Given the description of an element on the screen output the (x, y) to click on. 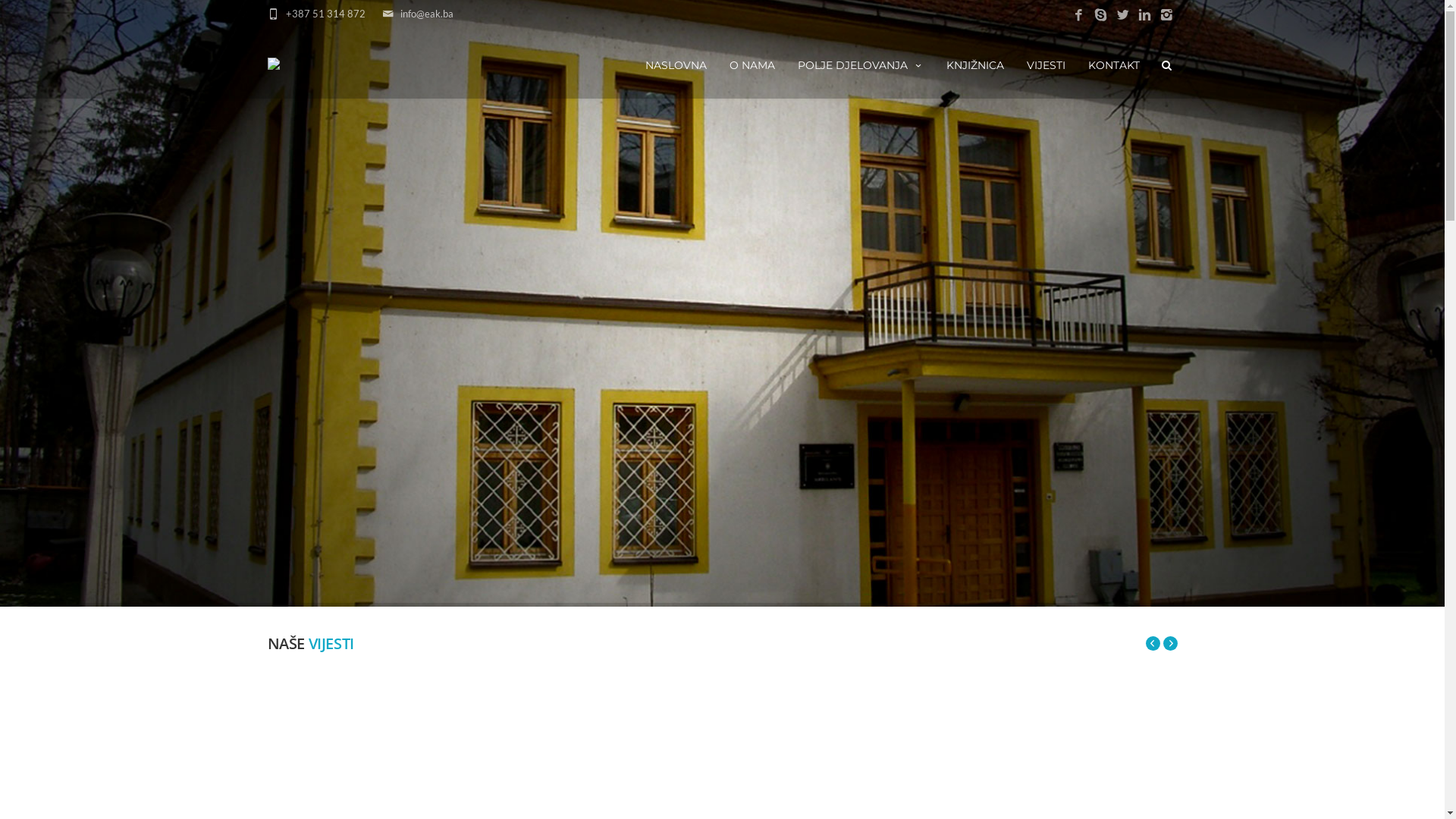
Skype Element type: hover (1099, 15)
VIJESTI Element type: text (1045, 63)
Google+ Element type: hover (1051, 791)
O NAMA Element type: text (751, 63)
LinkedIn Element type: hover (1143, 15)
KONTAKT Element type: text (1113, 63)
Facebook Element type: hover (1028, 791)
NASLOVNA Element type: text (675, 63)
Twitter Element type: hover (1122, 15)
LinkedIn Element type: hover (1119, 791)
www.eak.ba Element type: text (442, 790)
Facebook Element type: hover (1078, 15)
Youtube Element type: hover (1165, 791)
Twitter Element type: hover (1097, 791)
Pinterest Element type: hover (1074, 791)
POLJE DJELOVANJA Element type: text (859, 63)
Instagram Element type: hover (1142, 791)
Instagram Element type: hover (1166, 15)
